Given the description of an element on the screen output the (x, y) to click on. 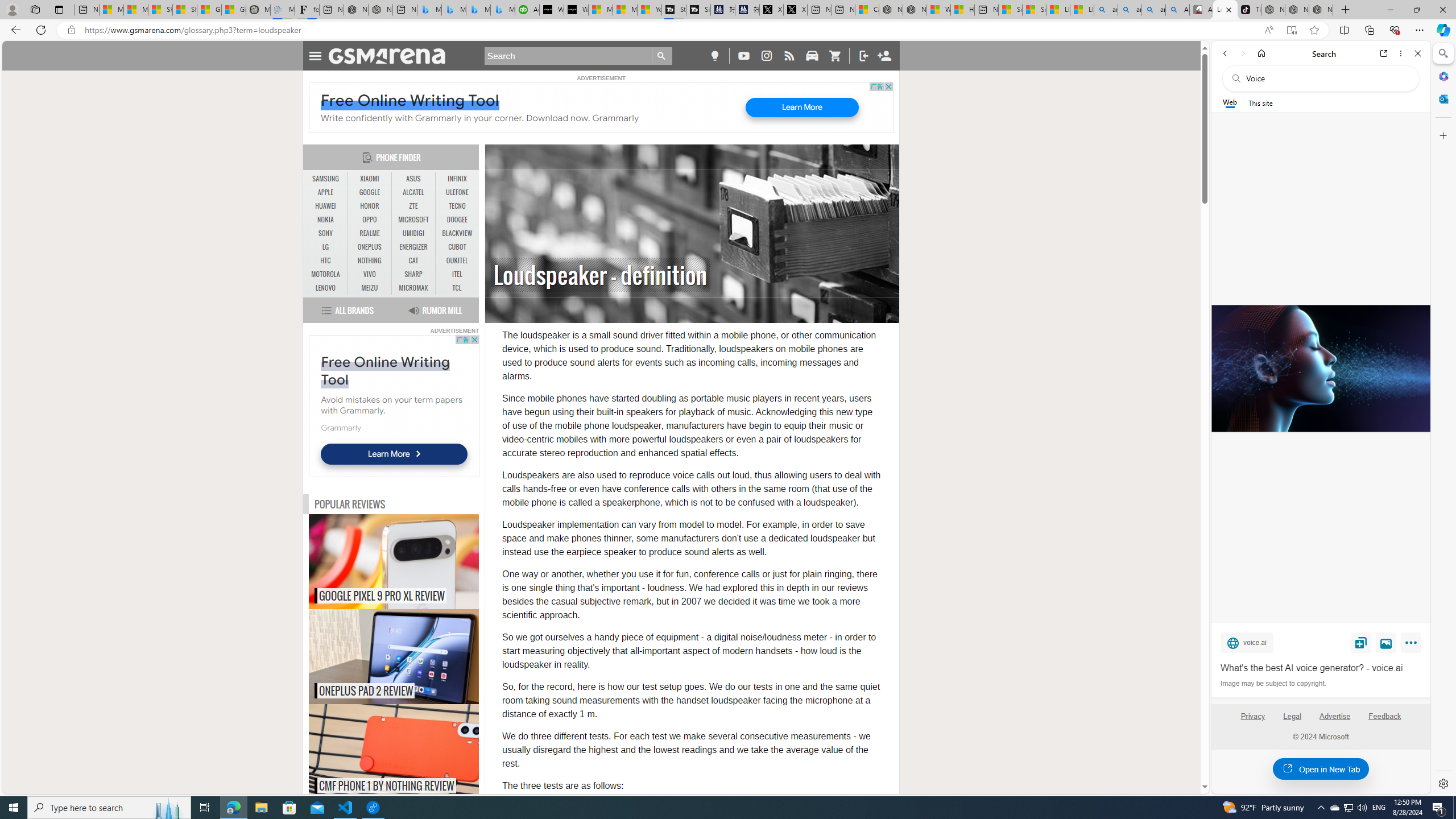
Side bar (1443, 418)
BLACKVIEW (457, 233)
HTC (325, 260)
View image (1385, 642)
CUBOT (457, 246)
MEIZU (369, 287)
